Given the description of an element on the screen output the (x, y) to click on. 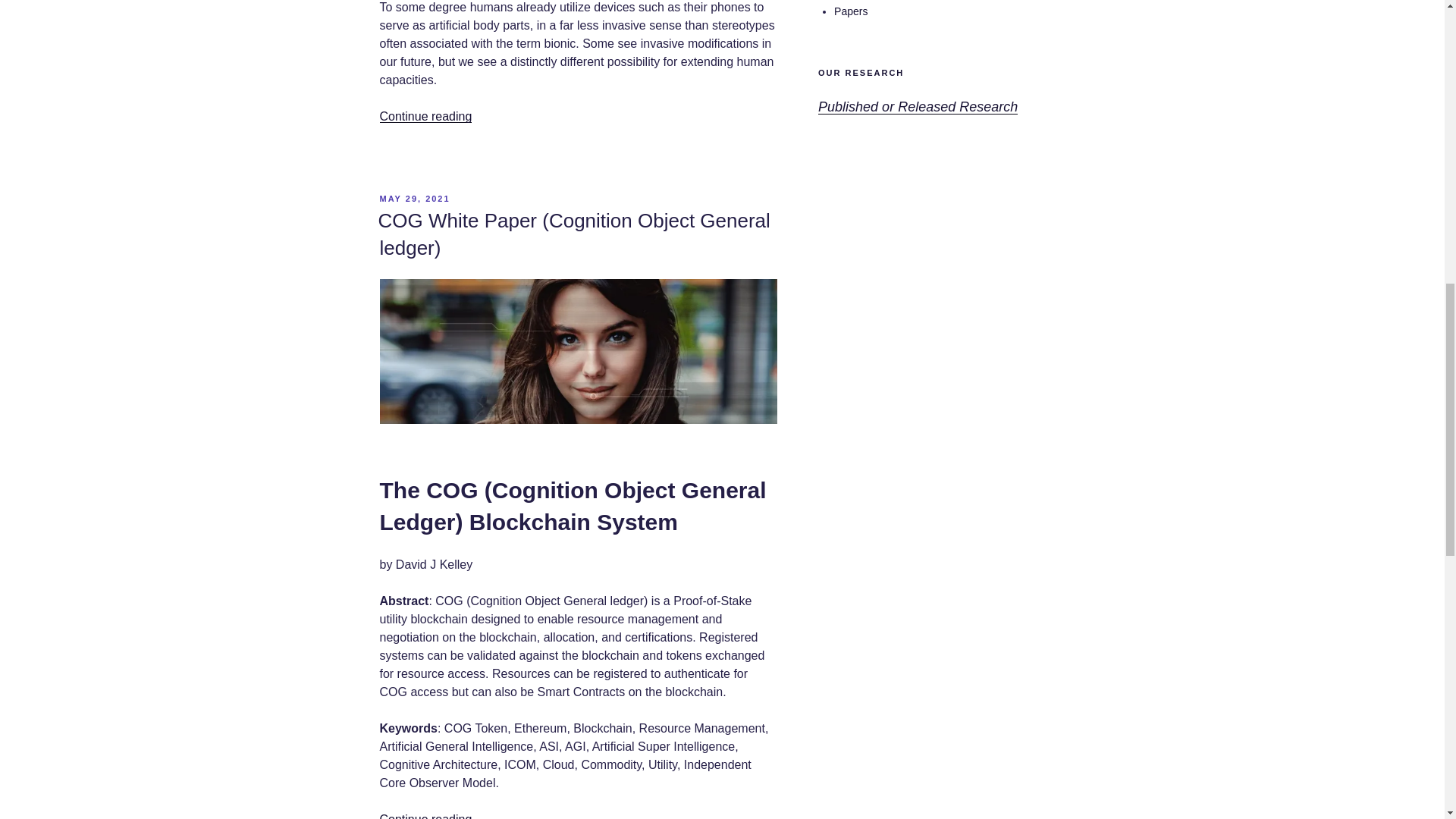
Papers (850, 10)
Published or Released Research (917, 106)
MAY 29, 2021 (413, 198)
